Given the description of an element on the screen output the (x, y) to click on. 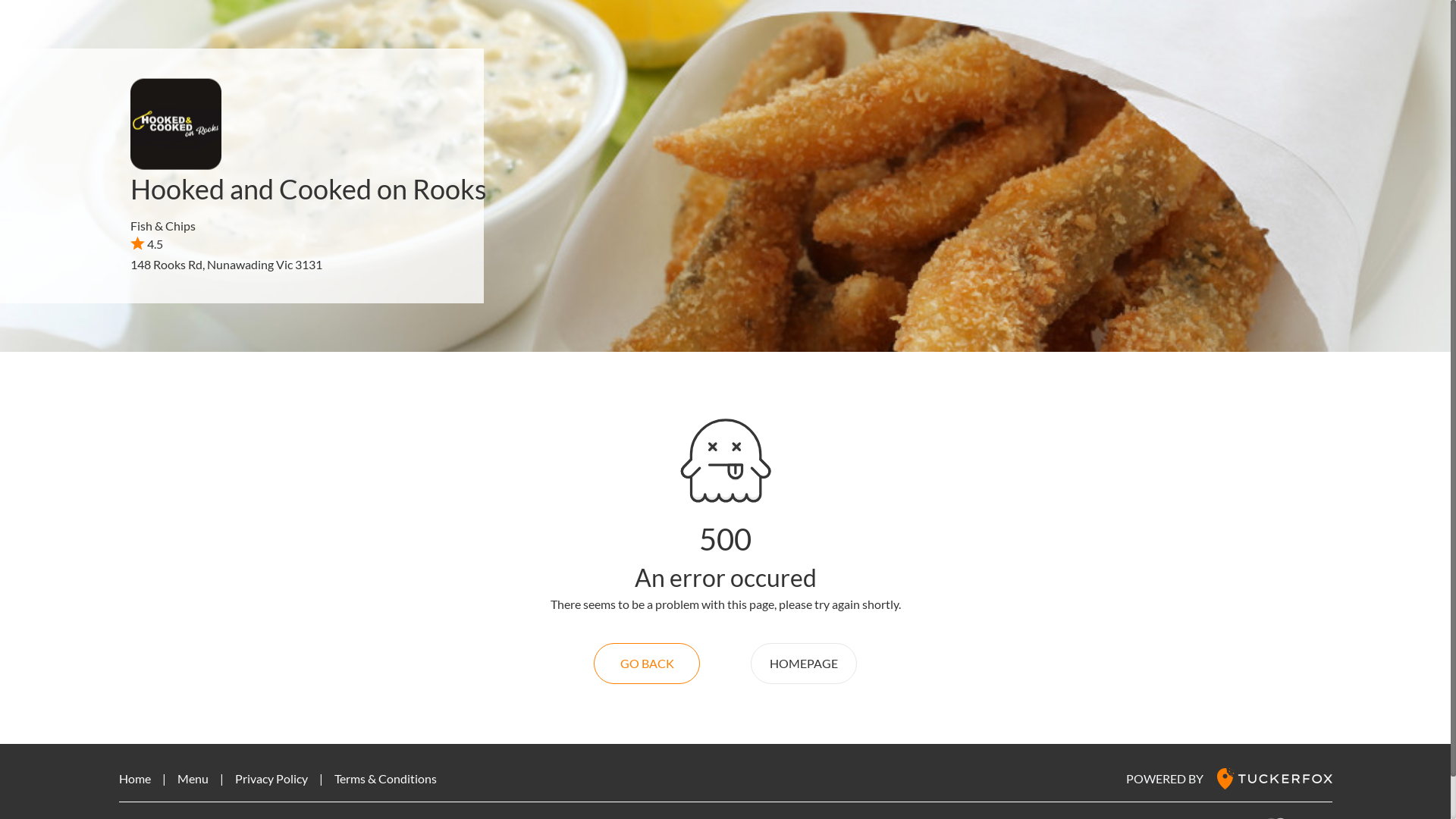
GO BACK Element type: text (646, 663)
Hooked and Cooked on Rooks Element type: text (308, 188)
4.5 Element type: text (146, 243)
Menu Element type: text (192, 778)
Home Element type: text (134, 778)
Terms & Conditions Element type: text (384, 778)
HOMEPAGE Element type: text (803, 663)
Privacy Policy Element type: text (271, 778)
